Given the description of an element on the screen output the (x, y) to click on. 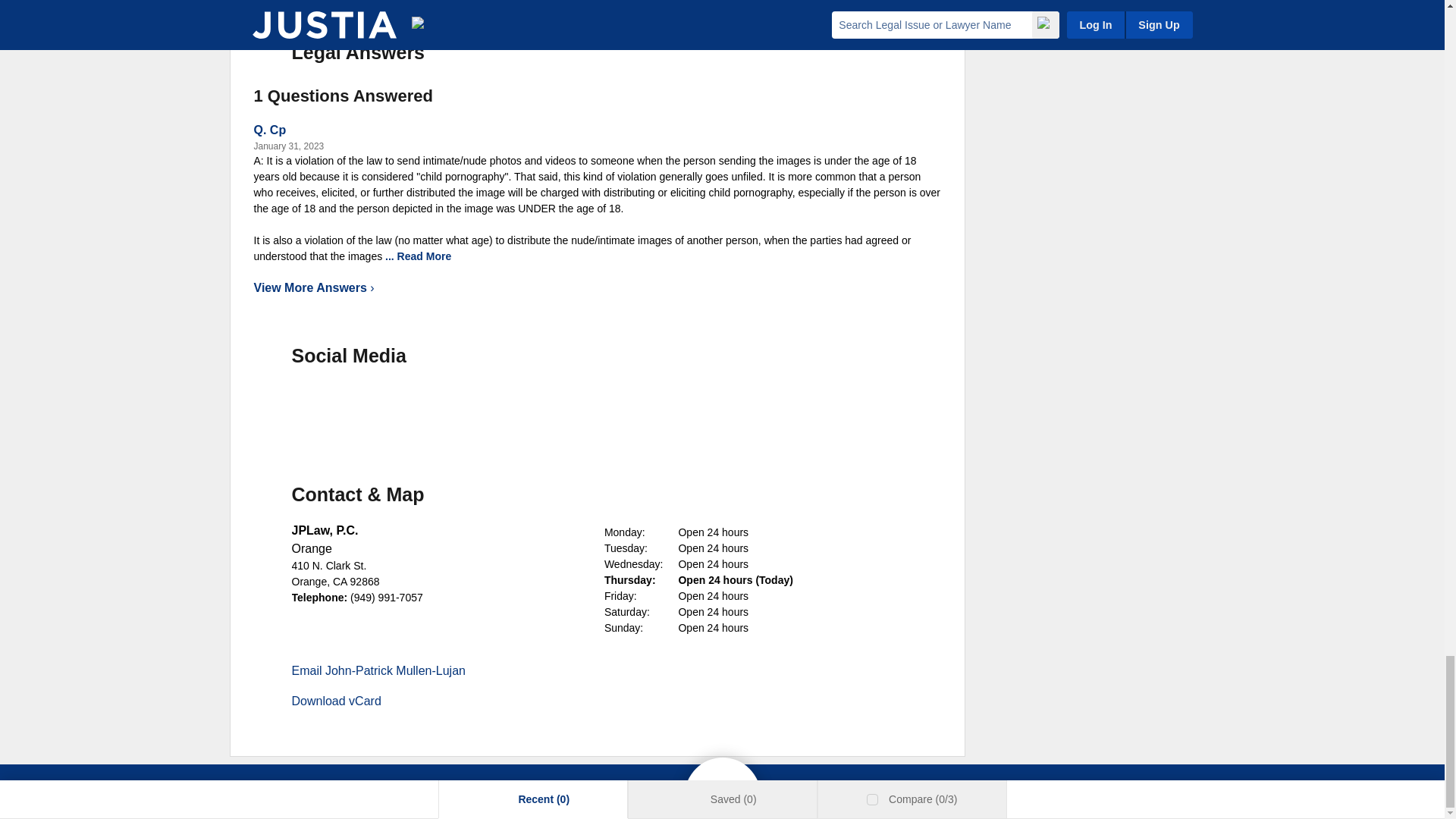
John-Patrick Mullen-Lujan on Facebook (275, 405)
John-Patrick Mullen-Lujan's Avvo Profile (435, 405)
down2 (457, 256)
 Justia Profile (381, 405)
John-Patrick Mullen-Lujan on LinkedIn (328, 405)
